Given the description of an element on the screen output the (x, y) to click on. 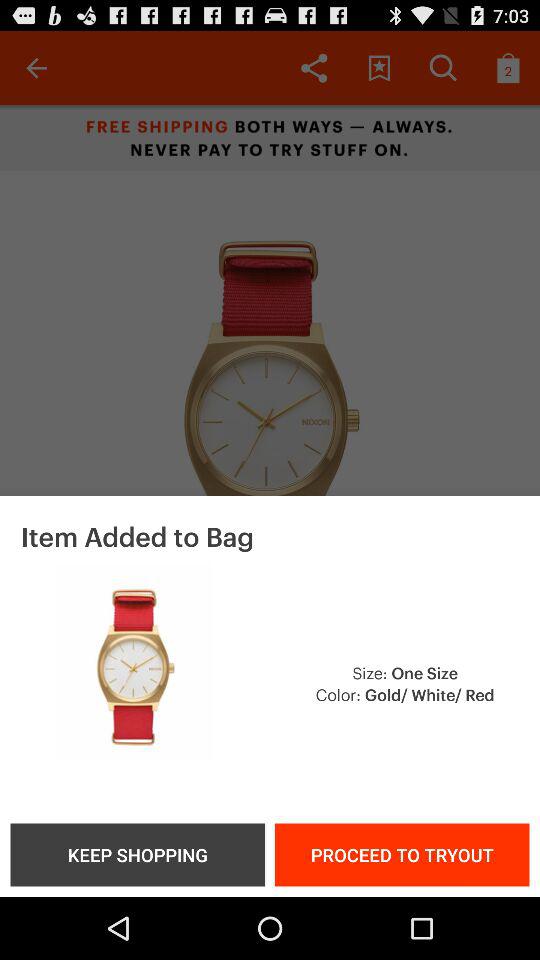
select item to the right of the keep shopping (402, 854)
